Given the description of an element on the screen output the (x, y) to click on. 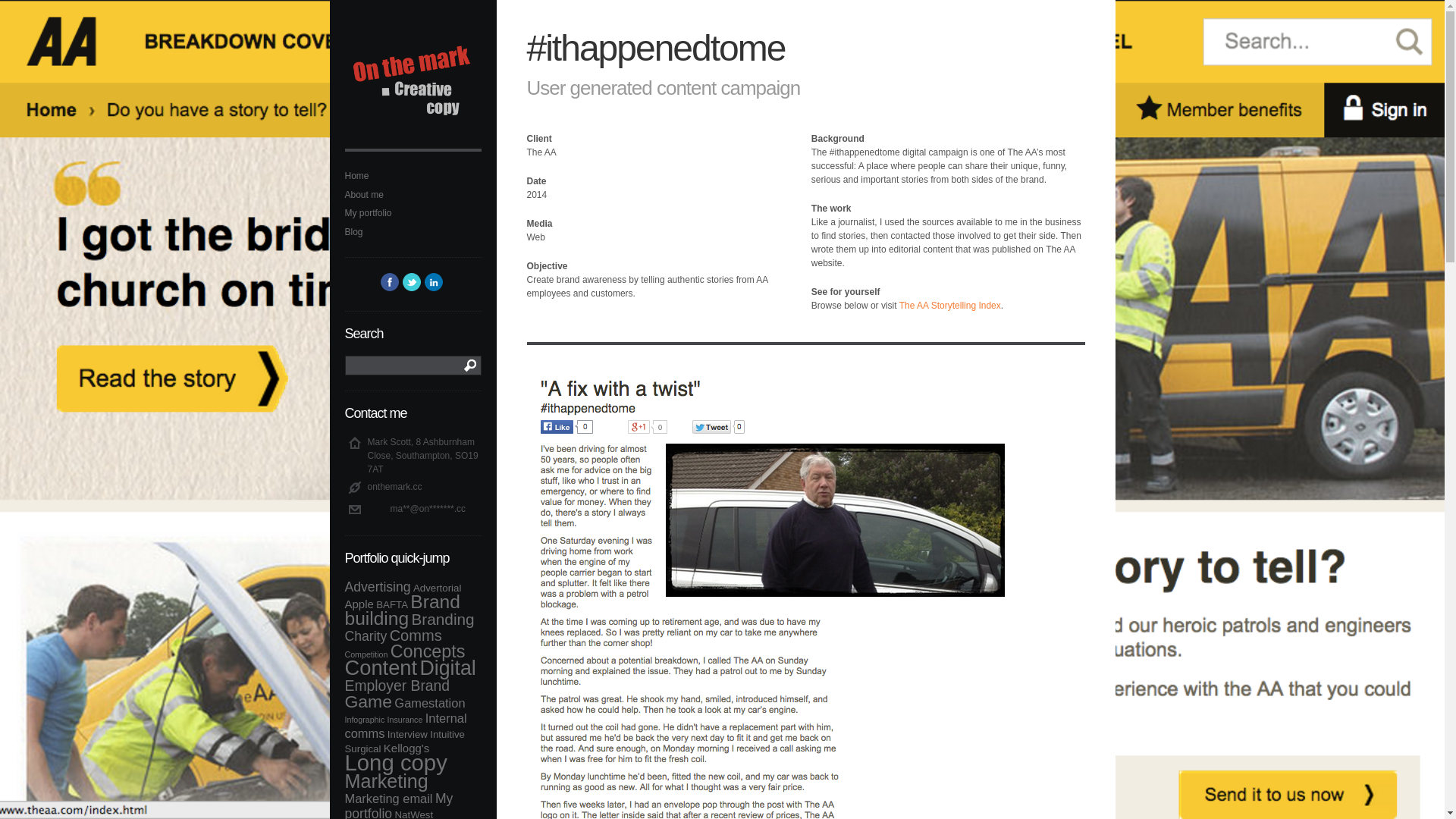
Digital (447, 667)
My portfolio (397, 805)
Competition (365, 654)
Twitter (411, 281)
Facebook (389, 281)
My portfolio (412, 212)
Gamestation (429, 703)
Marketing email (387, 798)
Insurance (405, 718)
LinkedIn (433, 281)
Apple (357, 603)
Blog (412, 231)
Internal comms (404, 725)
